Given the description of an element on the screen output the (x, y) to click on. 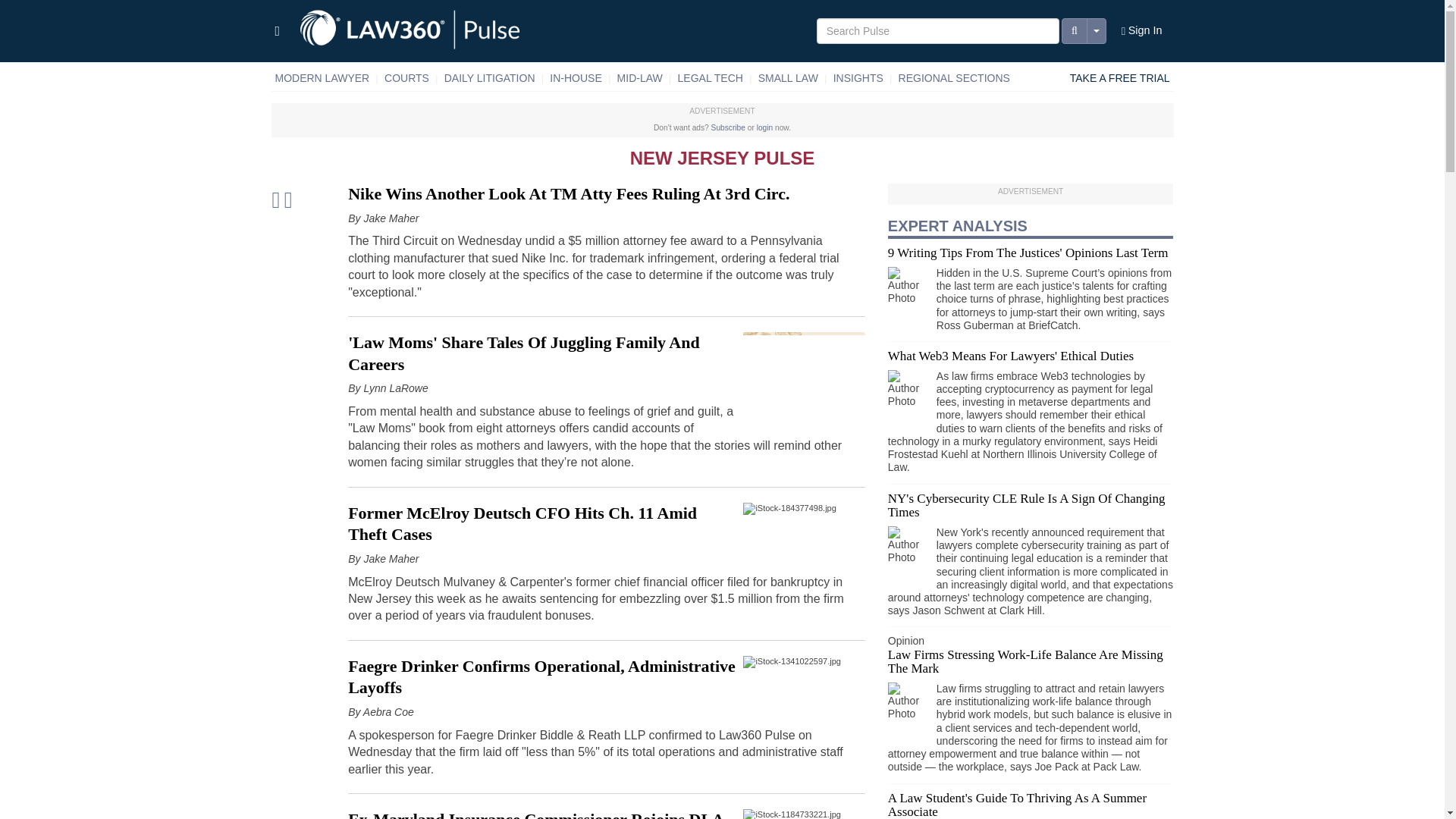
DAILY LITIGATION (489, 77)
Courts (406, 77)
LEGAL TECH (710, 77)
Mid-Law (639, 77)
REGIONAL SECTIONS (954, 77)
IN-HOUSE (575, 77)
Insights (857, 77)
Daily Litigation (489, 77)
In-House (575, 77)
MODERN LAWYER (322, 77)
GO (13, 7)
Small Law (788, 77)
Search Button (1074, 31)
Legal Tech (710, 77)
COURTS (406, 77)
